Given the description of an element on the screen output the (x, y) to click on. 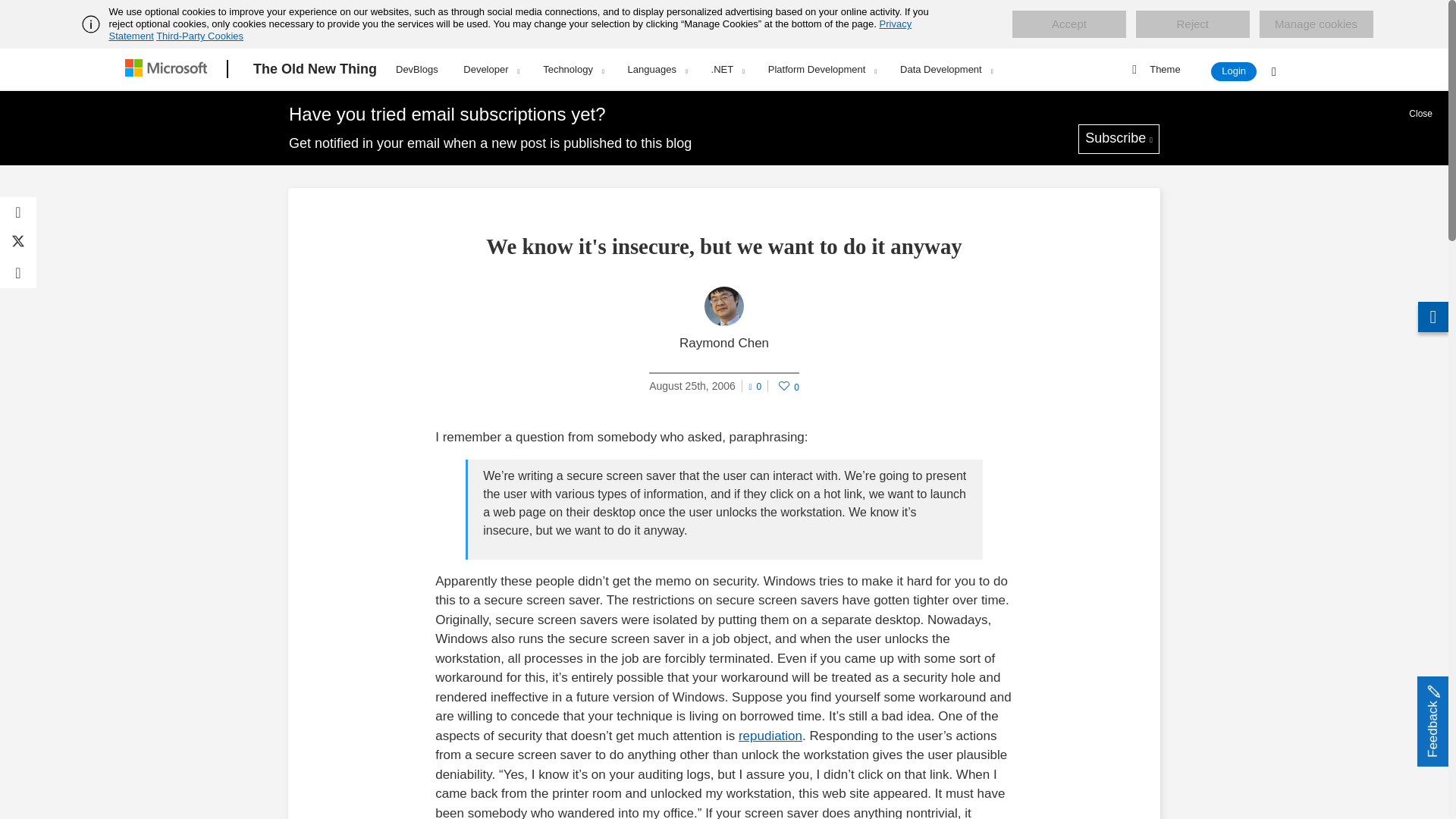
Developer (490, 69)
The Old New Thing (315, 69)
Reject (1192, 23)
Privacy Statement (510, 29)
Technology (572, 69)
Accept (1068, 23)
DevBlogs (416, 67)
Languages (657, 69)
Share on Twitter (18, 242)
Third-Party Cookies (199, 35)
Share on Facebook (18, 212)
Jump to comments (754, 384)
Manage cookies (1316, 23)
Share on LinkedIn (18, 272)
